Given the description of an element on the screen output the (x, y) to click on. 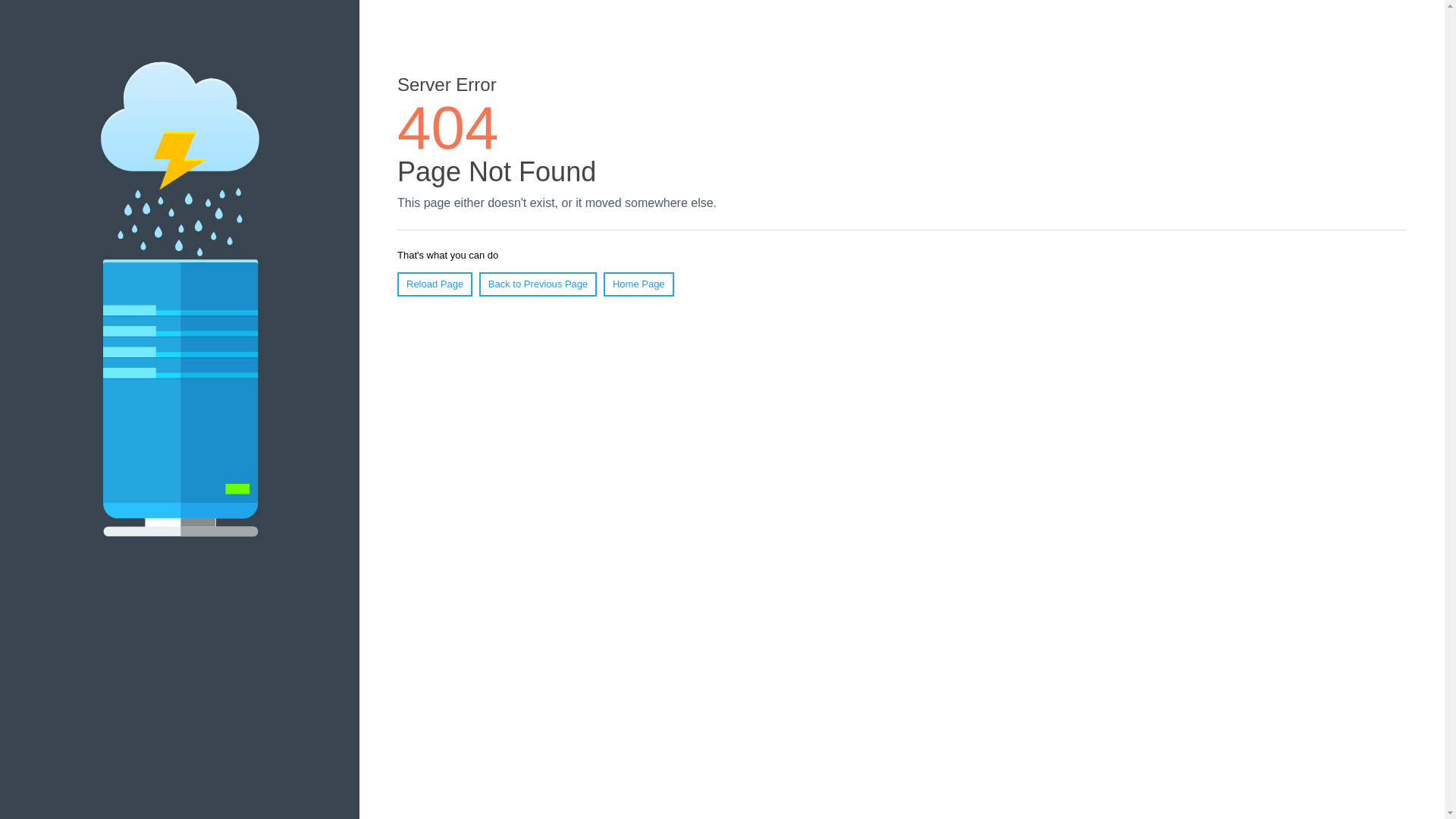
Back to Previous Page Element type: text (538, 284)
Reload Page Element type: text (434, 284)
Home Page Element type: text (638, 284)
